Given the description of an element on the screen output the (x, y) to click on. 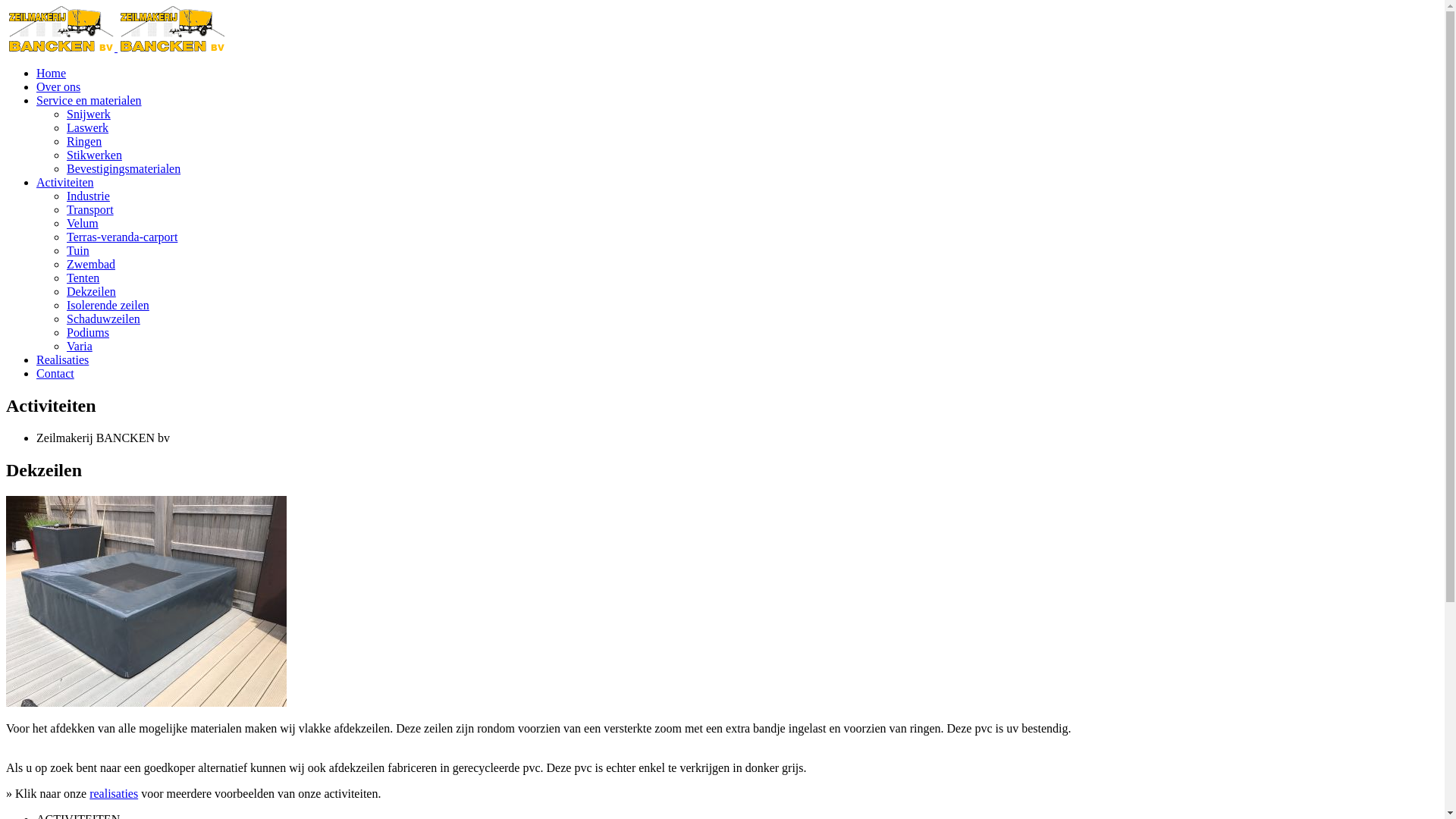
Ringen Element type: text (83, 140)
Transport Element type: text (89, 209)
Bevestigingsmaterialen Element type: text (123, 168)
Industrie Element type: text (87, 195)
Dekzeilen Element type: text (91, 291)
Terras-veranda-carport Element type: text (121, 236)
Tenten Element type: text (82, 277)
Laswerk Element type: text (87, 127)
realisaties Element type: text (113, 793)
Home Element type: text (50, 72)
Velum Element type: text (82, 222)
Realisaties Element type: text (62, 359)
Schaduwzeilen Element type: text (103, 318)
Service en materialen Element type: text (88, 100)
Over ons Element type: text (58, 86)
Stikwerken Element type: text (94, 154)
Podiums Element type: text (87, 332)
Varia Element type: text (79, 345)
Zwembad Element type: text (90, 263)
Contact Element type: text (55, 373)
Isolerende zeilen Element type: text (107, 304)
Snijwerk Element type: text (88, 113)
Activiteiten Element type: text (65, 181)
Tuin Element type: text (77, 250)
